Given the description of an element on the screen output the (x, y) to click on. 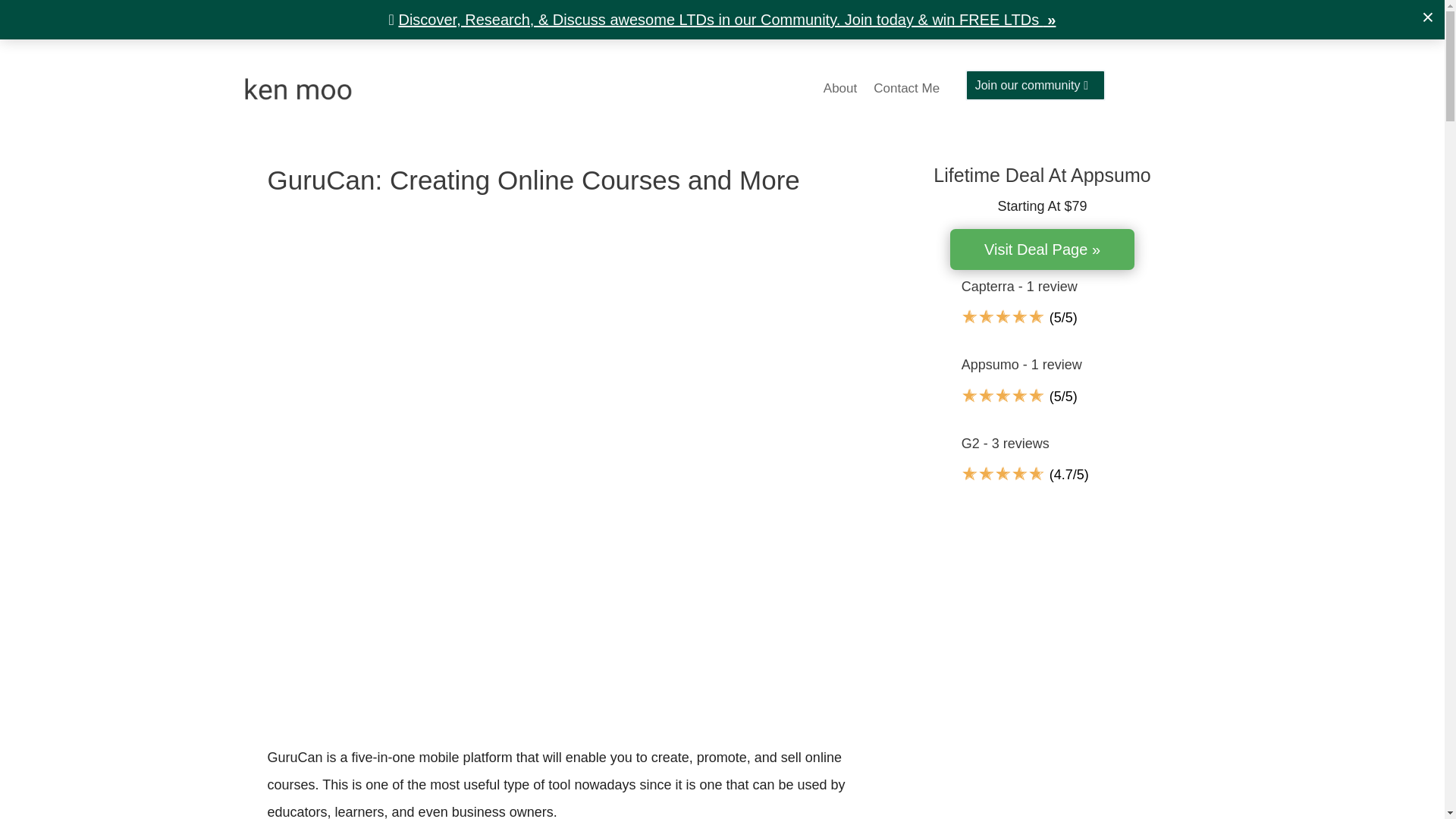
Privacy Policy (494, 793)
Contact (550, 793)
Contact Me (906, 91)
Ken Moo Logo (296, 90)
About (840, 91)
Join our community (1034, 84)
Submit (27, 10)
